Given the description of an element on the screen output the (x, y) to click on. 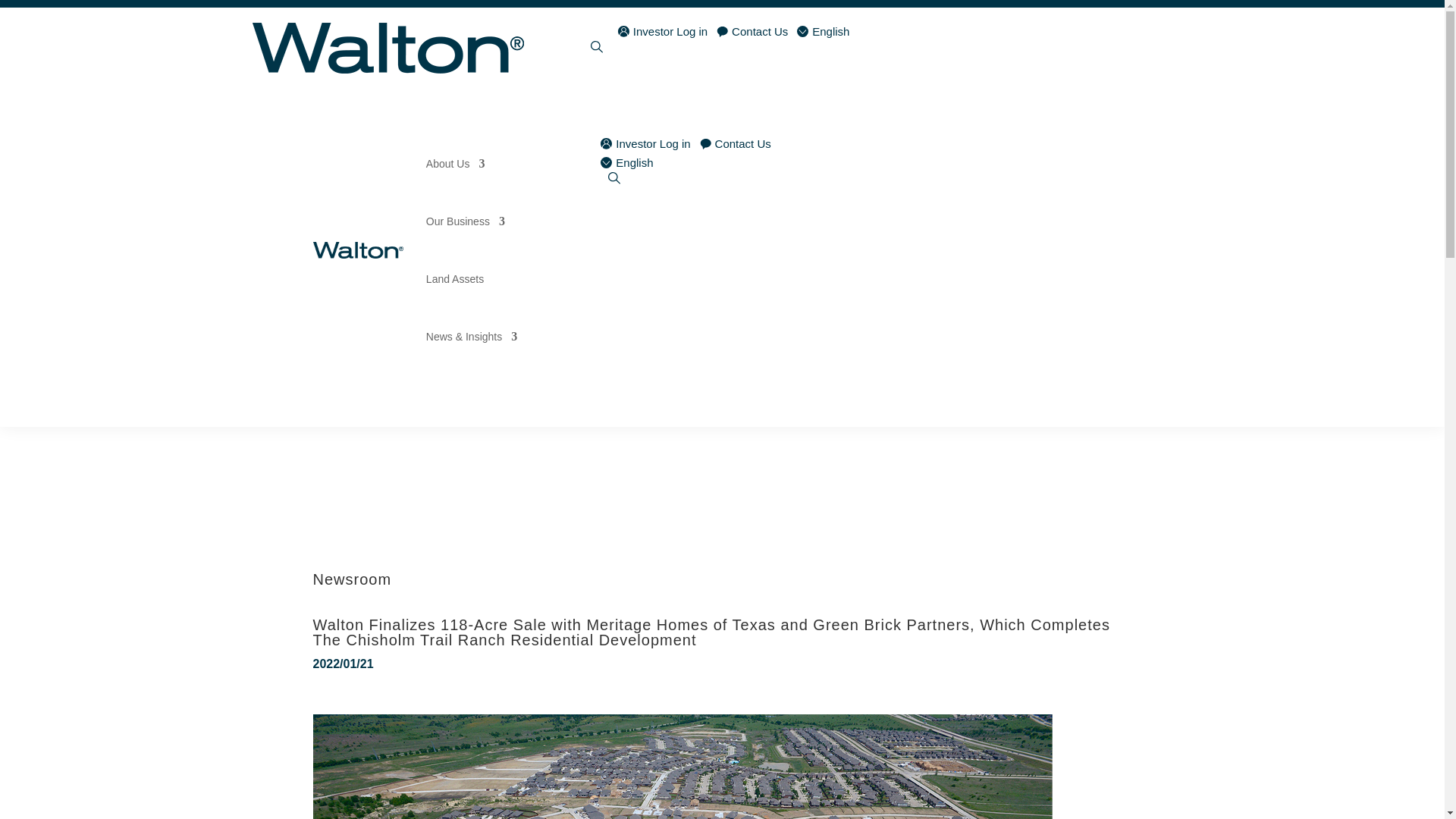
Our Business (465, 221)
Contact Us (751, 31)
Contact Us (735, 143)
About Us (455, 163)
Land Assets (454, 278)
BACK TO NEWSROOM (410, 509)
Chisholm (682, 766)
